Given the description of an element on the screen output the (x, y) to click on. 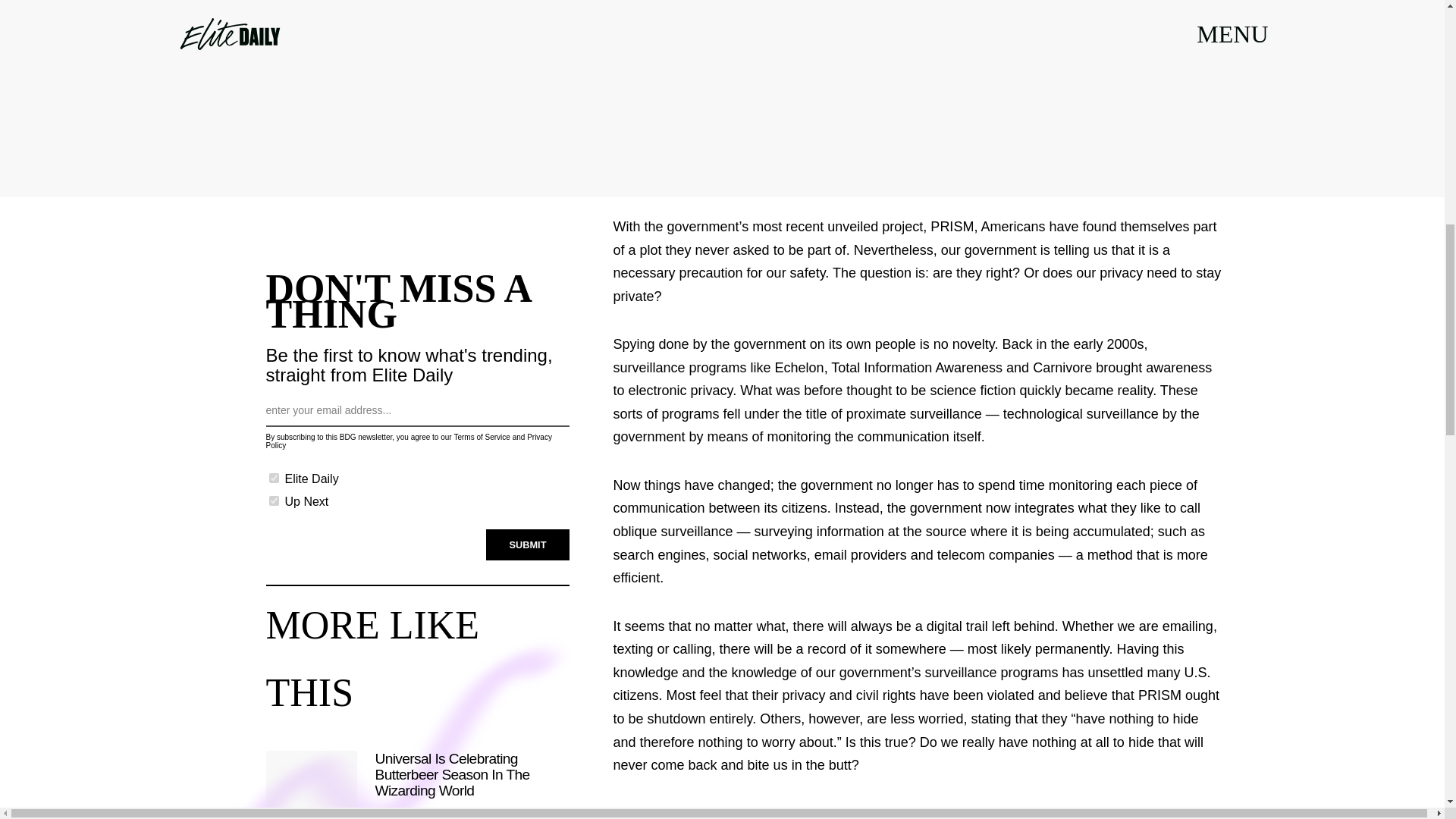
SUBMIT (527, 536)
Terms of Service (480, 429)
Privacy Policy (407, 434)
